Given the description of an element on the screen output the (x, y) to click on. 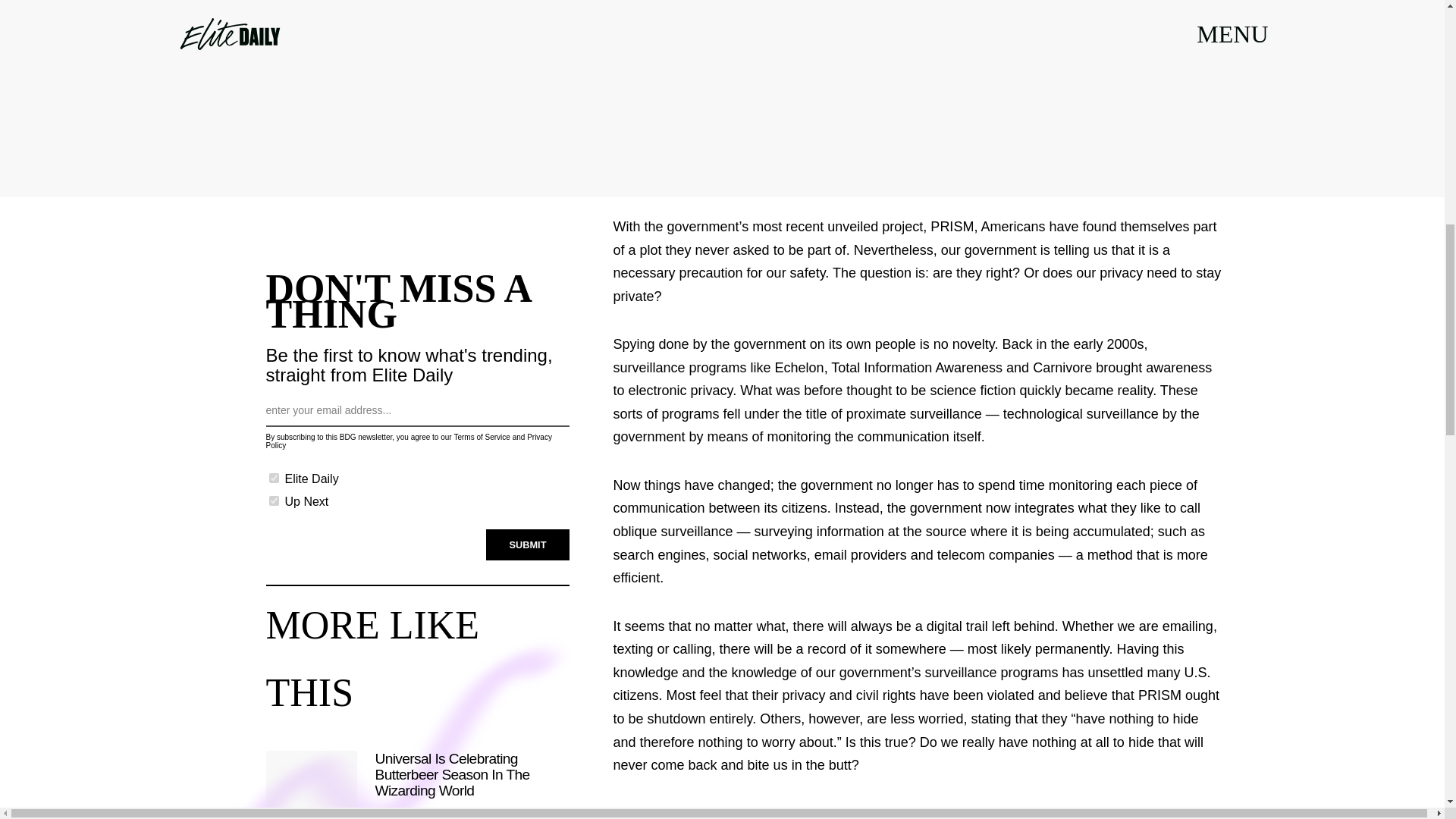
SUBMIT (527, 536)
Terms of Service (480, 429)
Privacy Policy (407, 434)
